Given the description of an element on the screen output the (x, y) to click on. 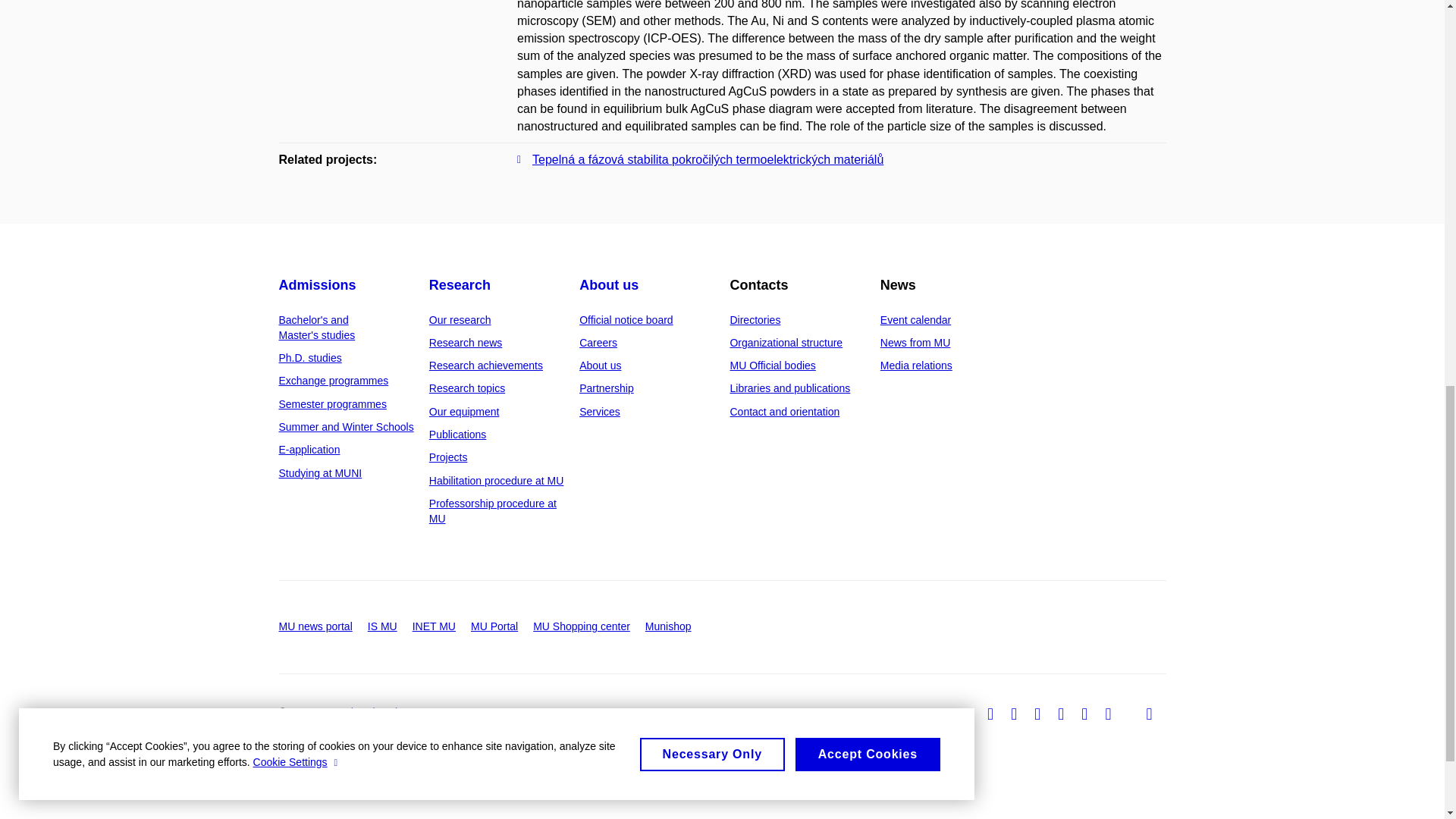
Summer and Winter Schools (346, 426)
Projects (448, 457)
Semester programmes (333, 404)
Our research (460, 319)
Publications (457, 434)
Research news (465, 342)
Research achievements (486, 365)
Admissions (317, 284)
Exchange programmes (333, 380)
